Given the description of an element on the screen output the (x, y) to click on. 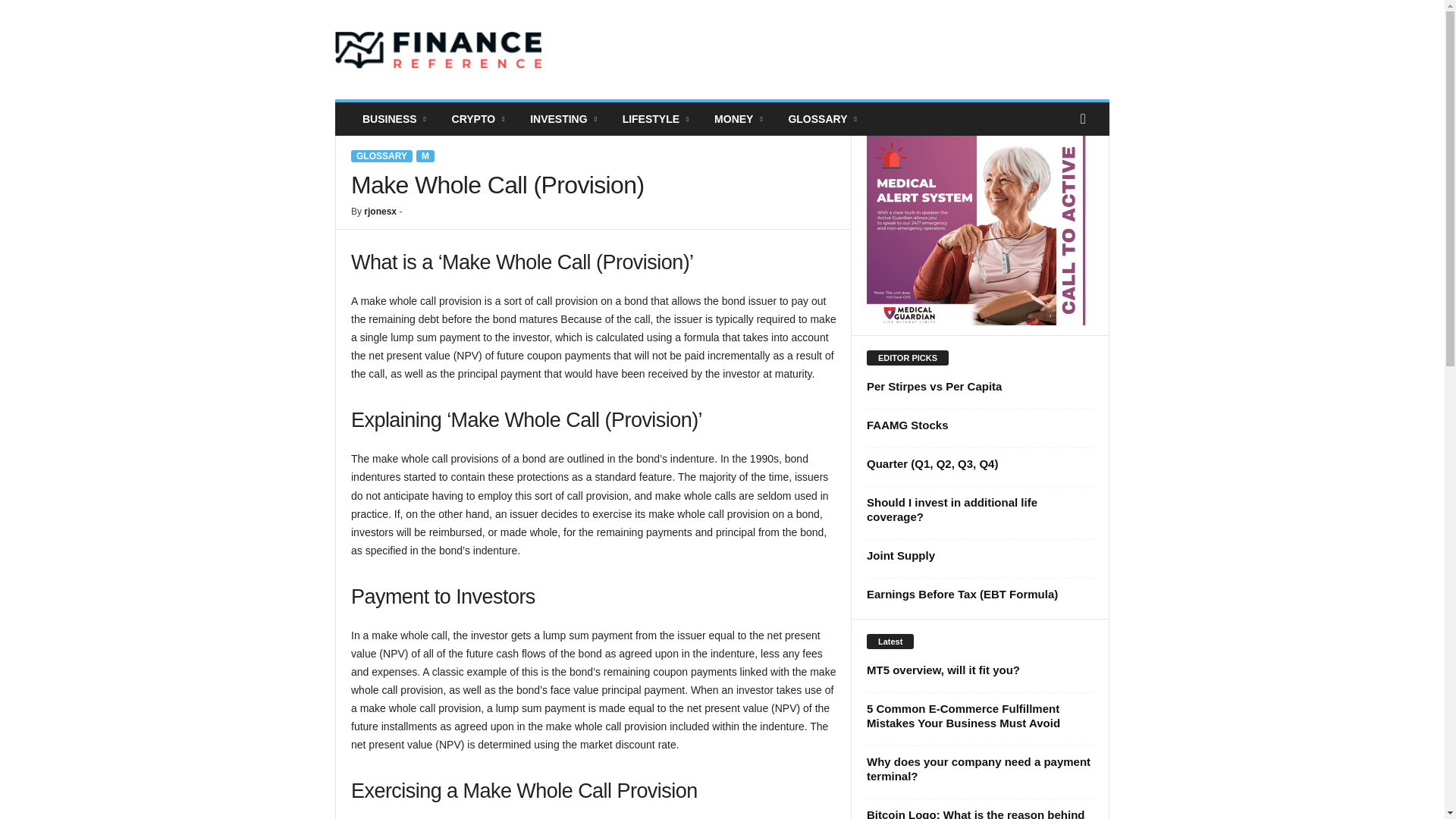
BUSINESS (395, 118)
CRYPTO (480, 118)
Finance Reference (437, 49)
